Given the description of an element on the screen output the (x, y) to click on. 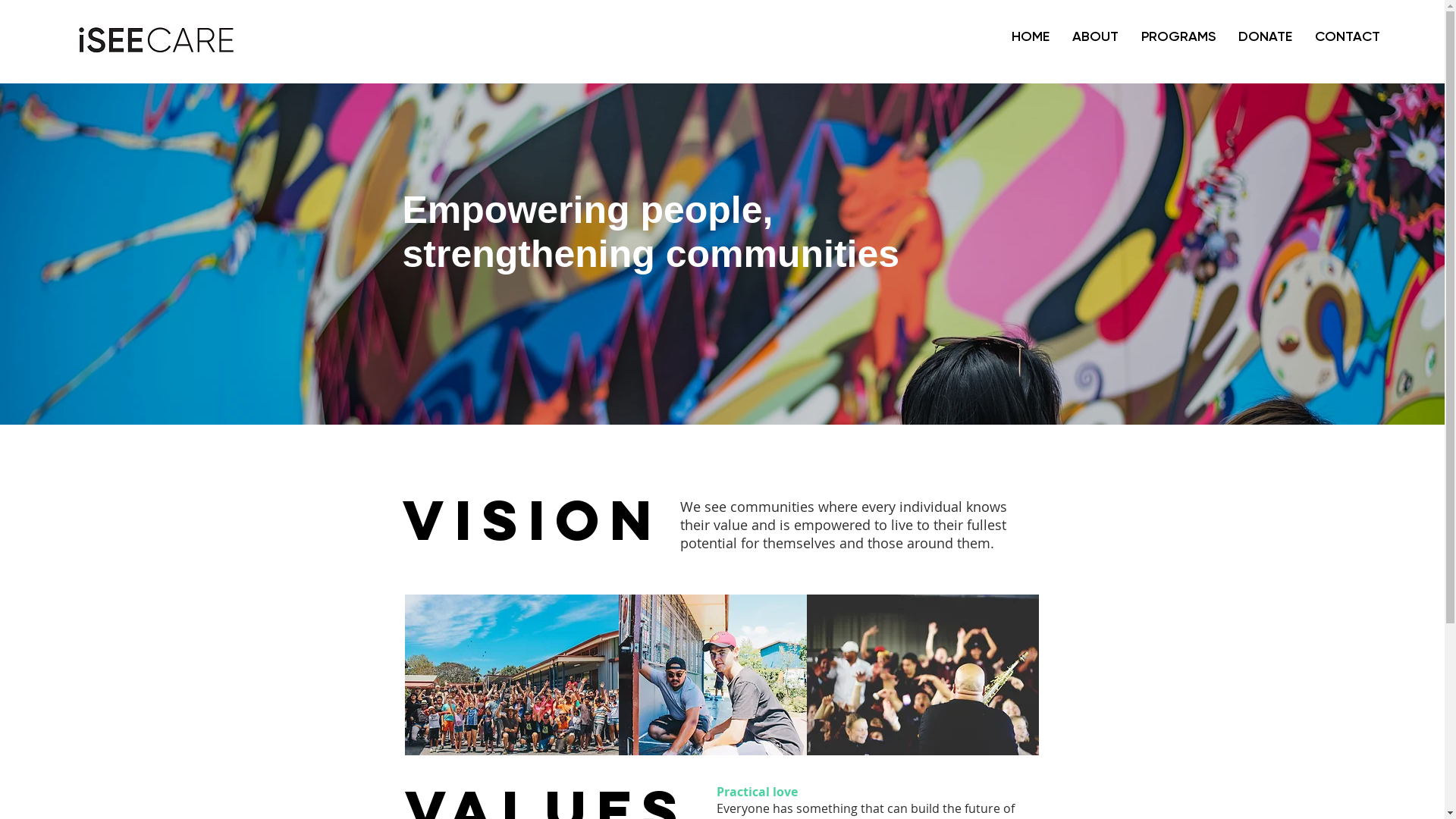
PROGRAMS Element type: text (1177, 36)
ABOUT Element type: text (1094, 36)
DONATE Element type: text (1264, 36)
CONTACT Element type: text (1347, 36)
HOME Element type: text (1030, 36)
